Given the description of an element on the screen output the (x, y) to click on. 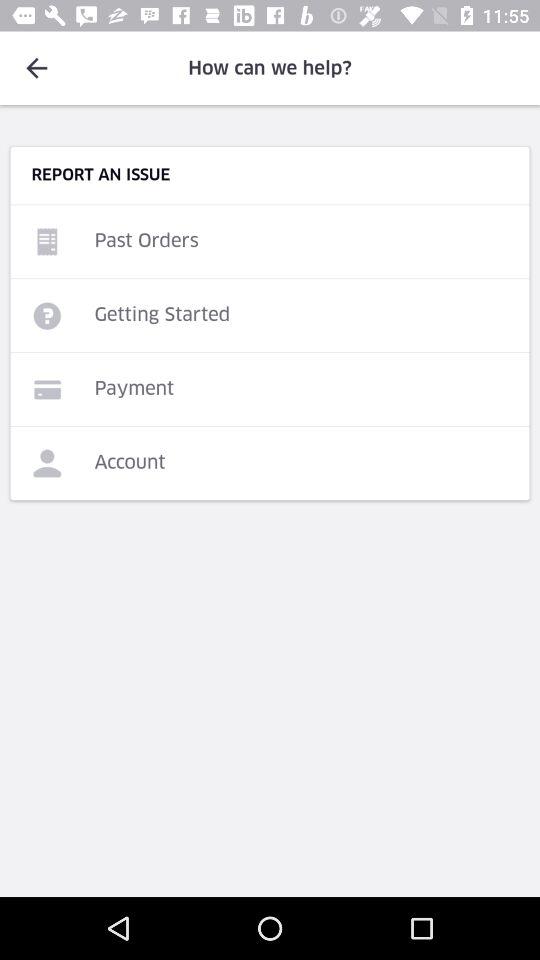
select icon to the left of the how can we icon (36, 68)
